Given the description of an element on the screen output the (x, y) to click on. 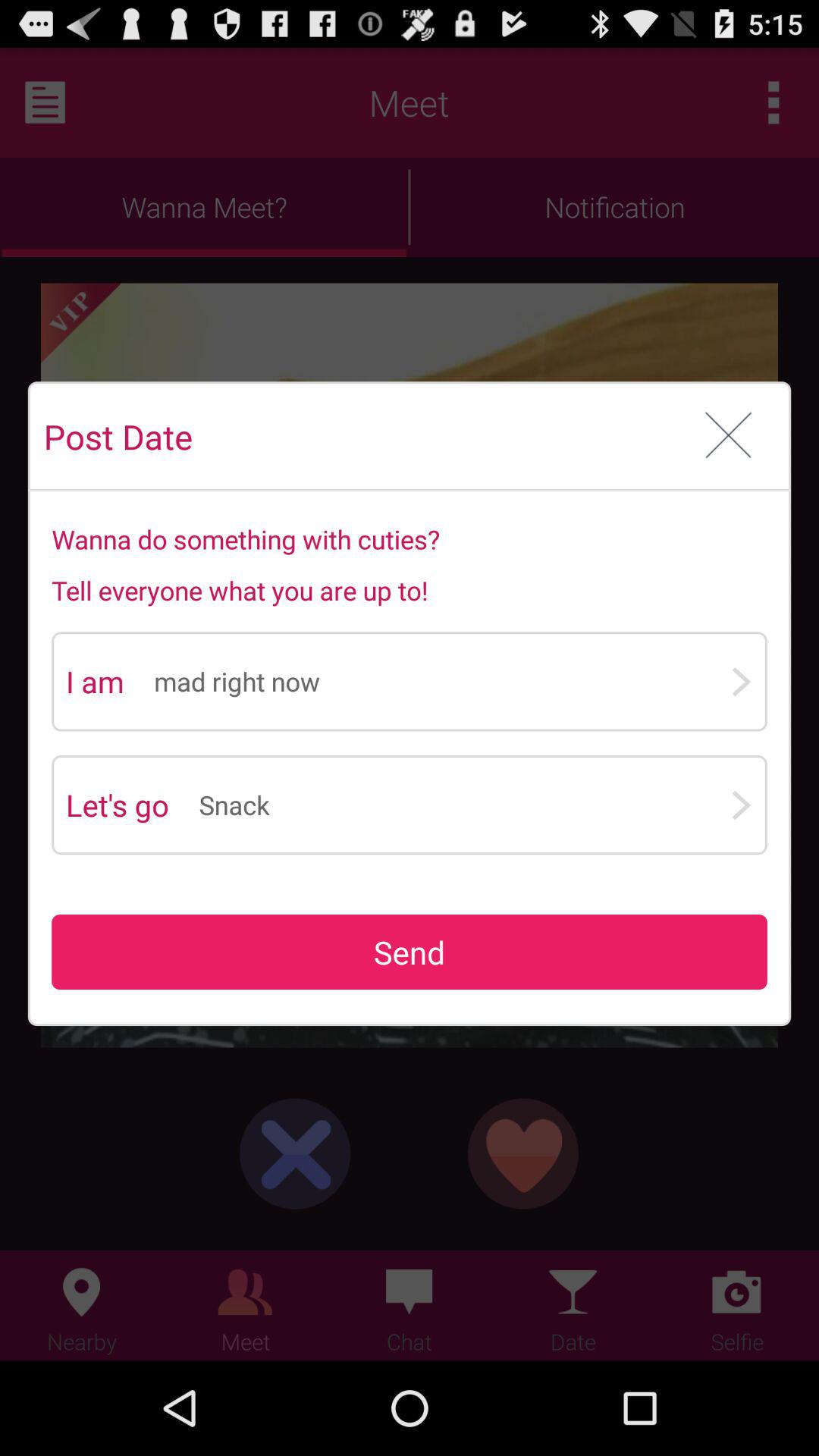
press app to the right of post date (728, 436)
